Given the description of an element on the screen output the (x, y) to click on. 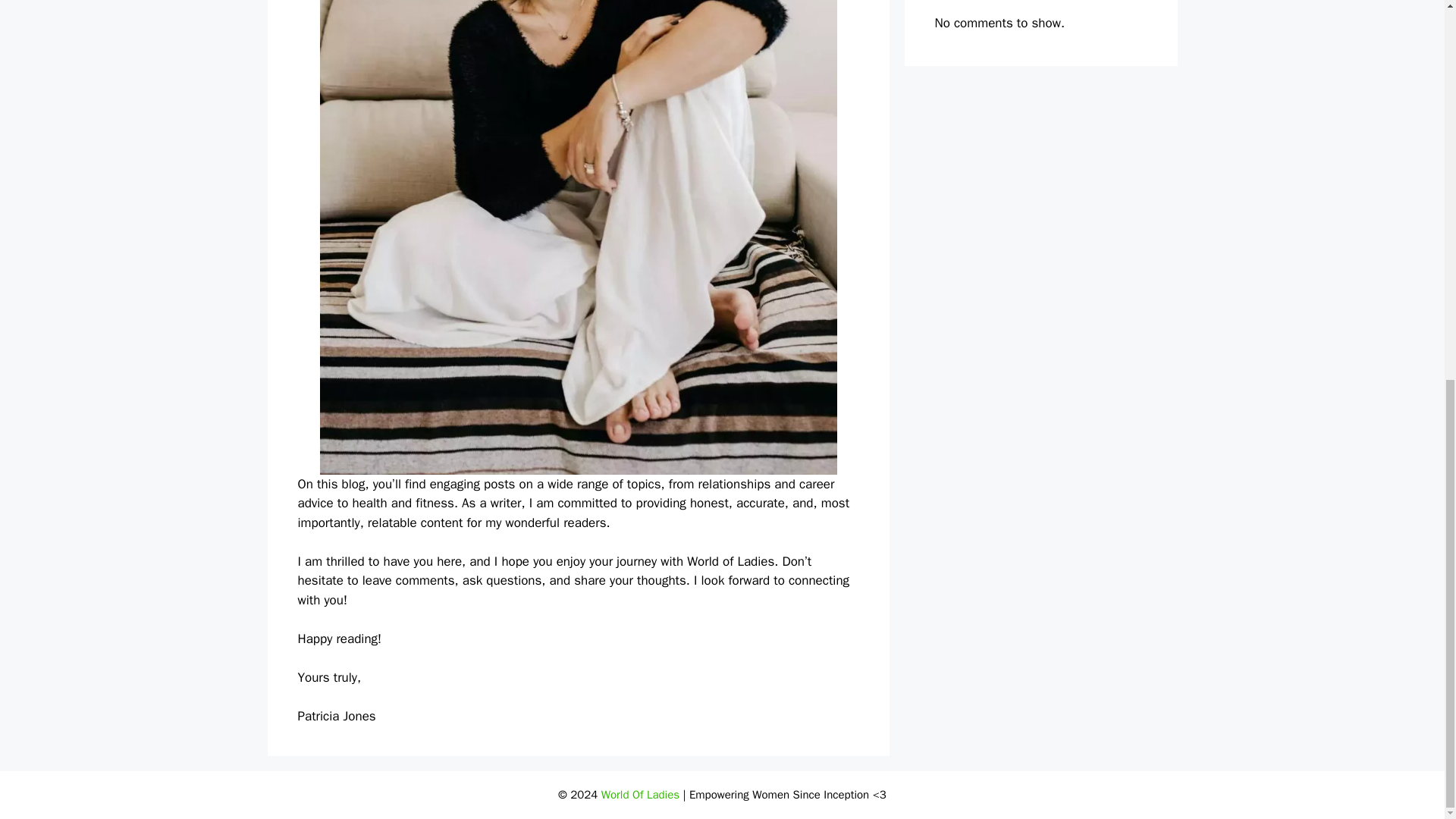
World Of Ladies (640, 794)
